Given the description of an element on the screen output the (x, y) to click on. 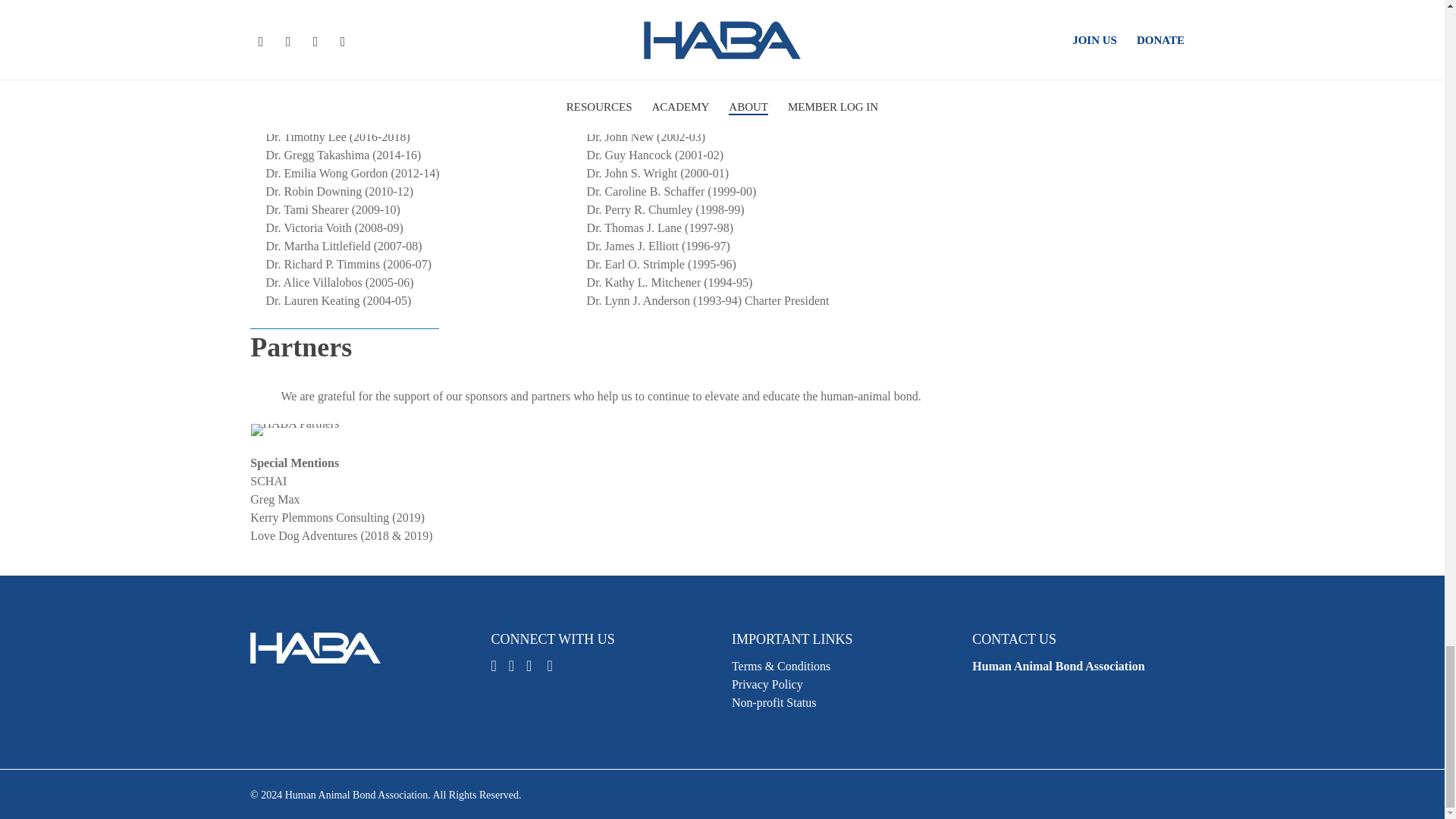
Human Animal Bond Association (516, 666)
Privacy Policy (1058, 666)
Non-profit Status (767, 684)
